Given the description of an element on the screen output the (x, y) to click on. 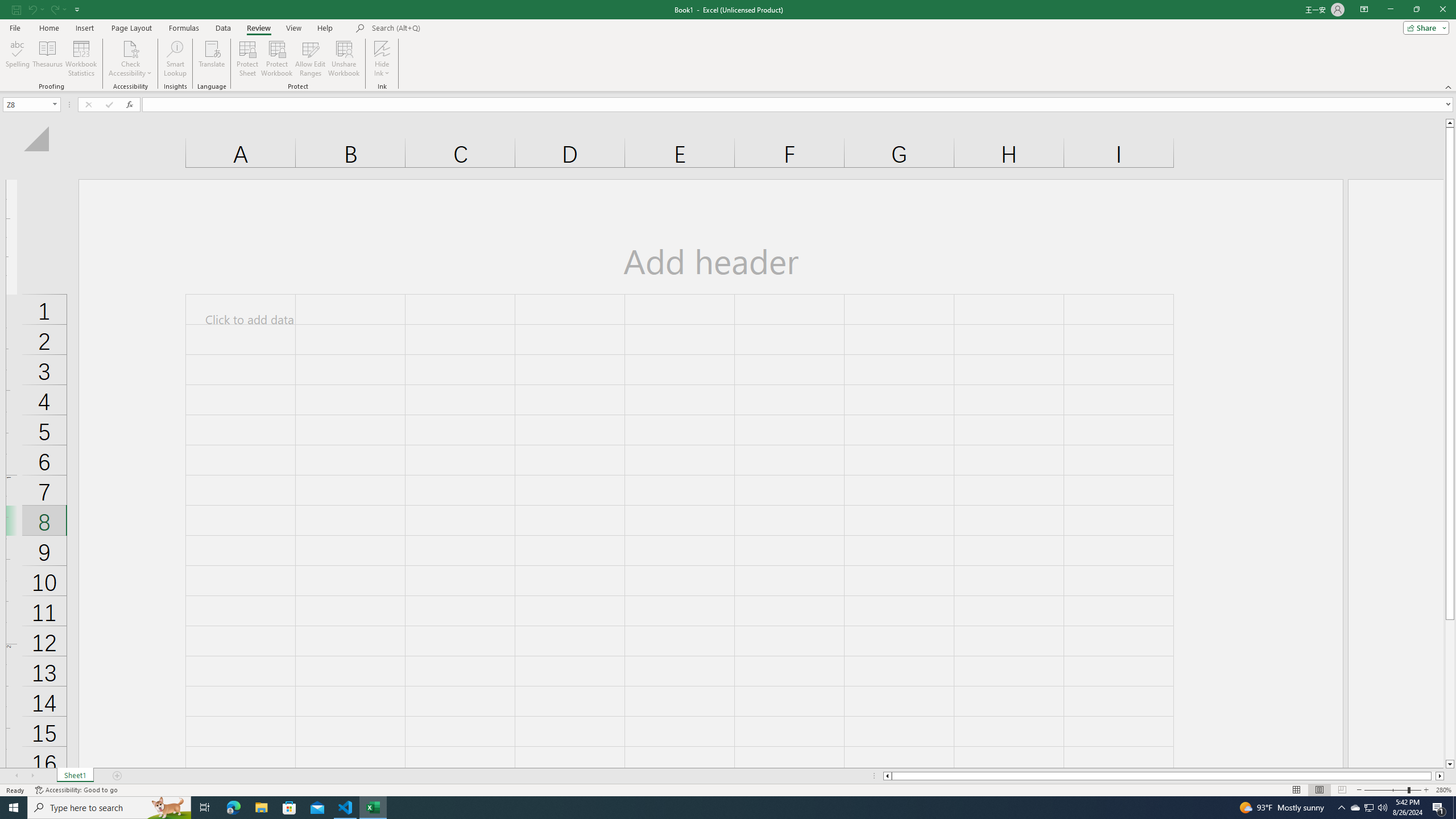
Page down (1449, 689)
